Given the description of an element on the screen output the (x, y) to click on. 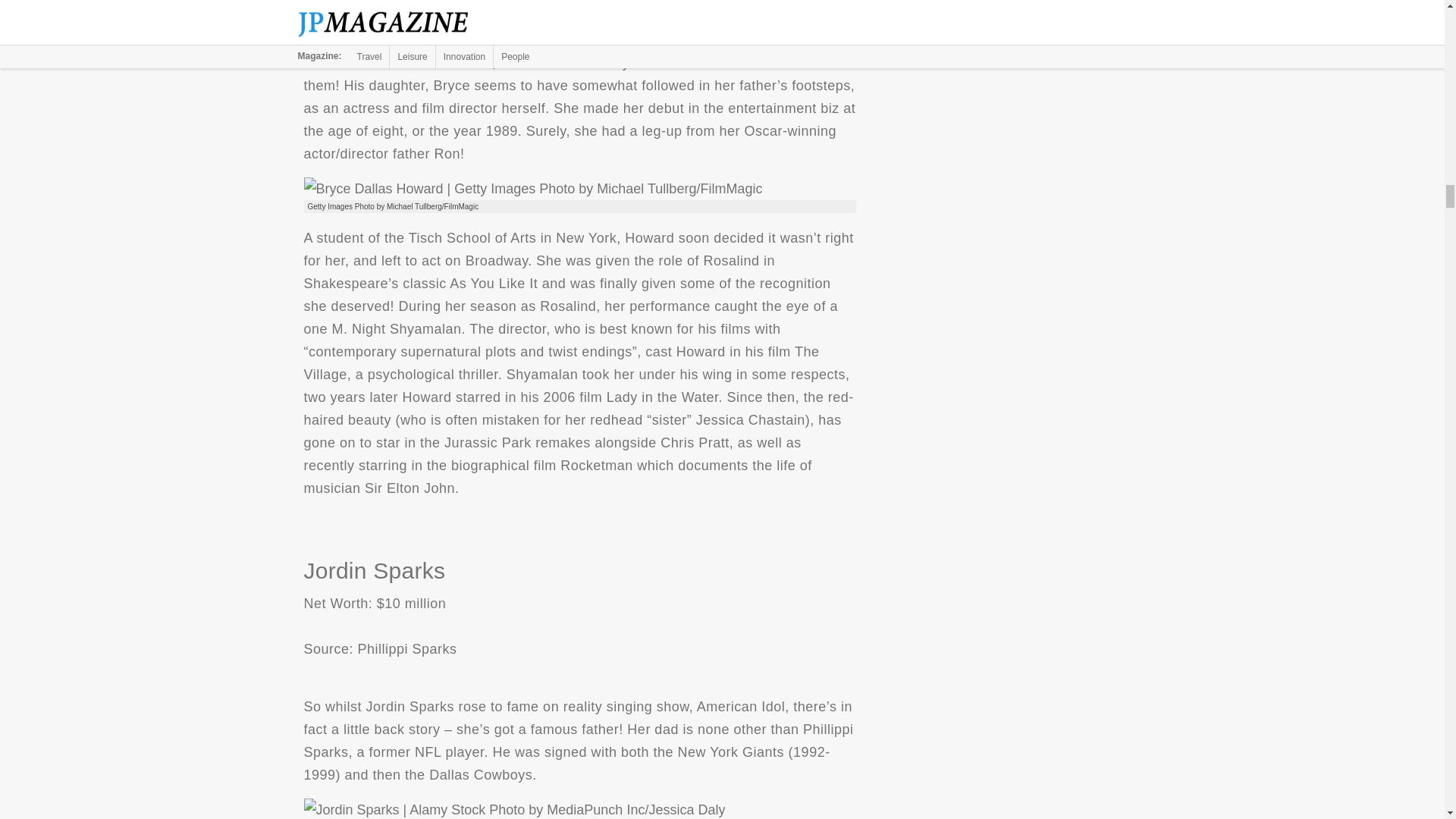
Jordin Sparks (513, 808)
Bryce Dallas Howard (531, 188)
